Given the description of an element on the screen output the (x, y) to click on. 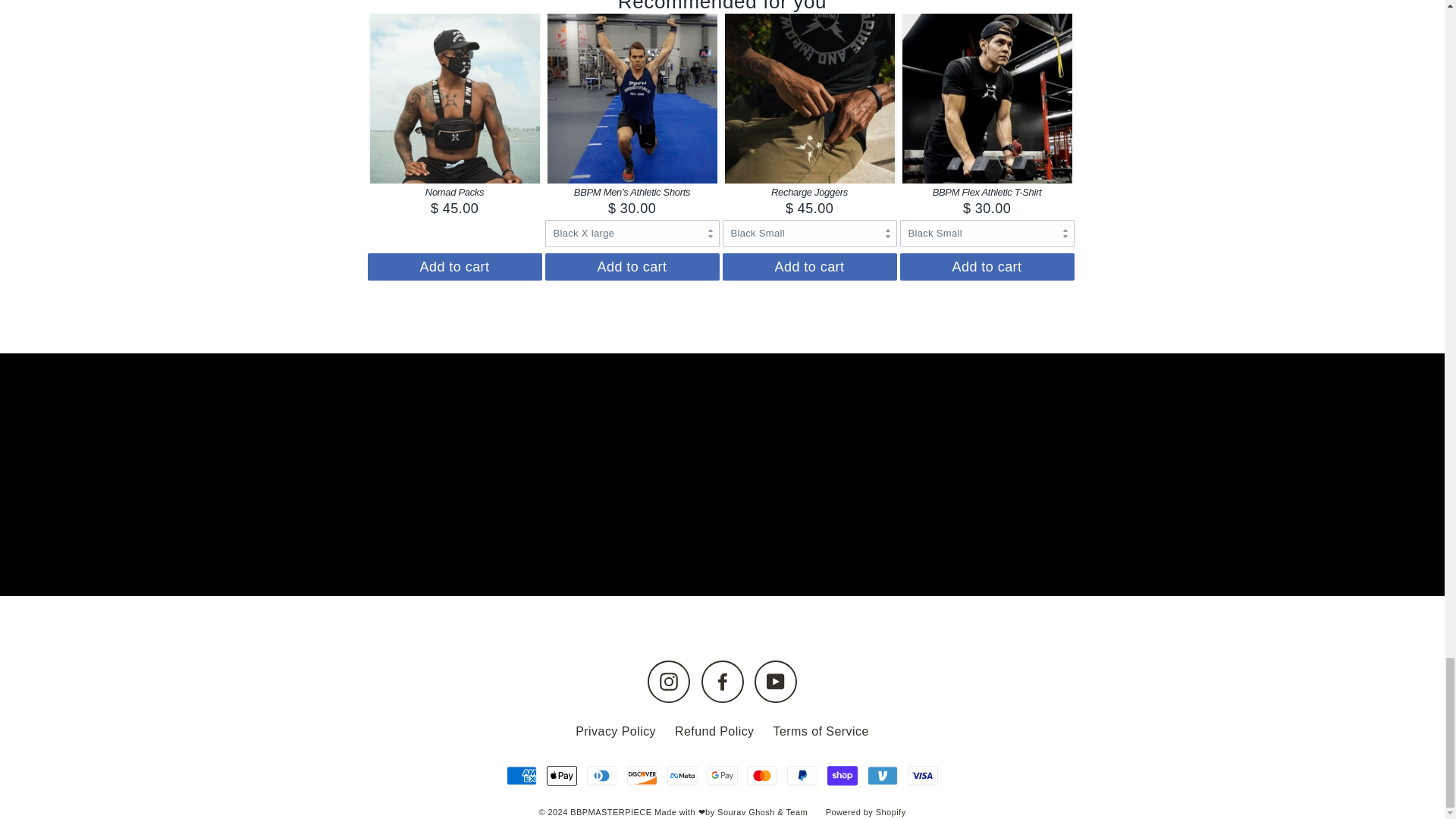
American Express (521, 775)
Shop Pay (842, 775)
Diners Club (601, 775)
BBPMASTERPIECE on Facebook (721, 681)
Apple Pay (561, 775)
Discover (642, 775)
Meta Pay (681, 775)
PayPal (801, 775)
BBPM Flex Athletic T-Shirt (986, 192)
Google Pay (721, 775)
